Given the description of an element on the screen output the (x, y) to click on. 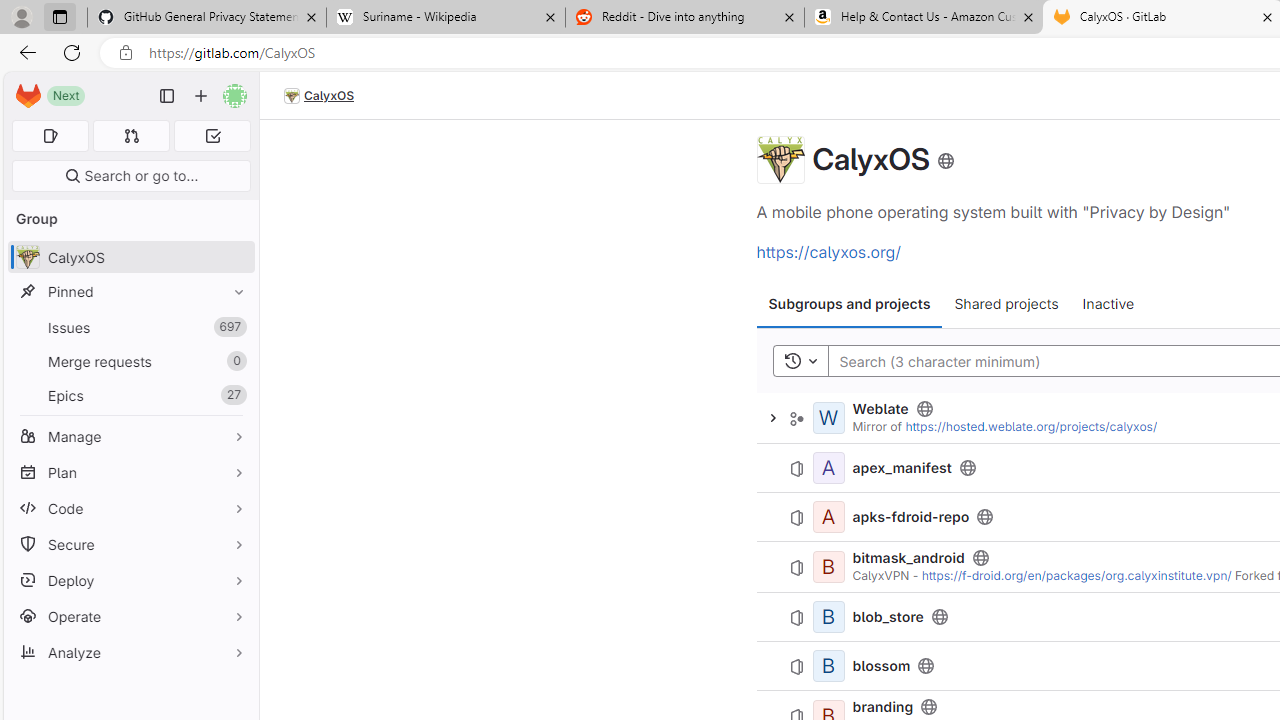
Create new... (201, 96)
Issues 697 (130, 327)
https://f-droid.org/en/packages/org.calyxinstitute.vpn/ (1076, 575)
CalyxOS (319, 96)
Issues697 (130, 327)
